Given the description of an element on the screen output the (x, y) to click on. 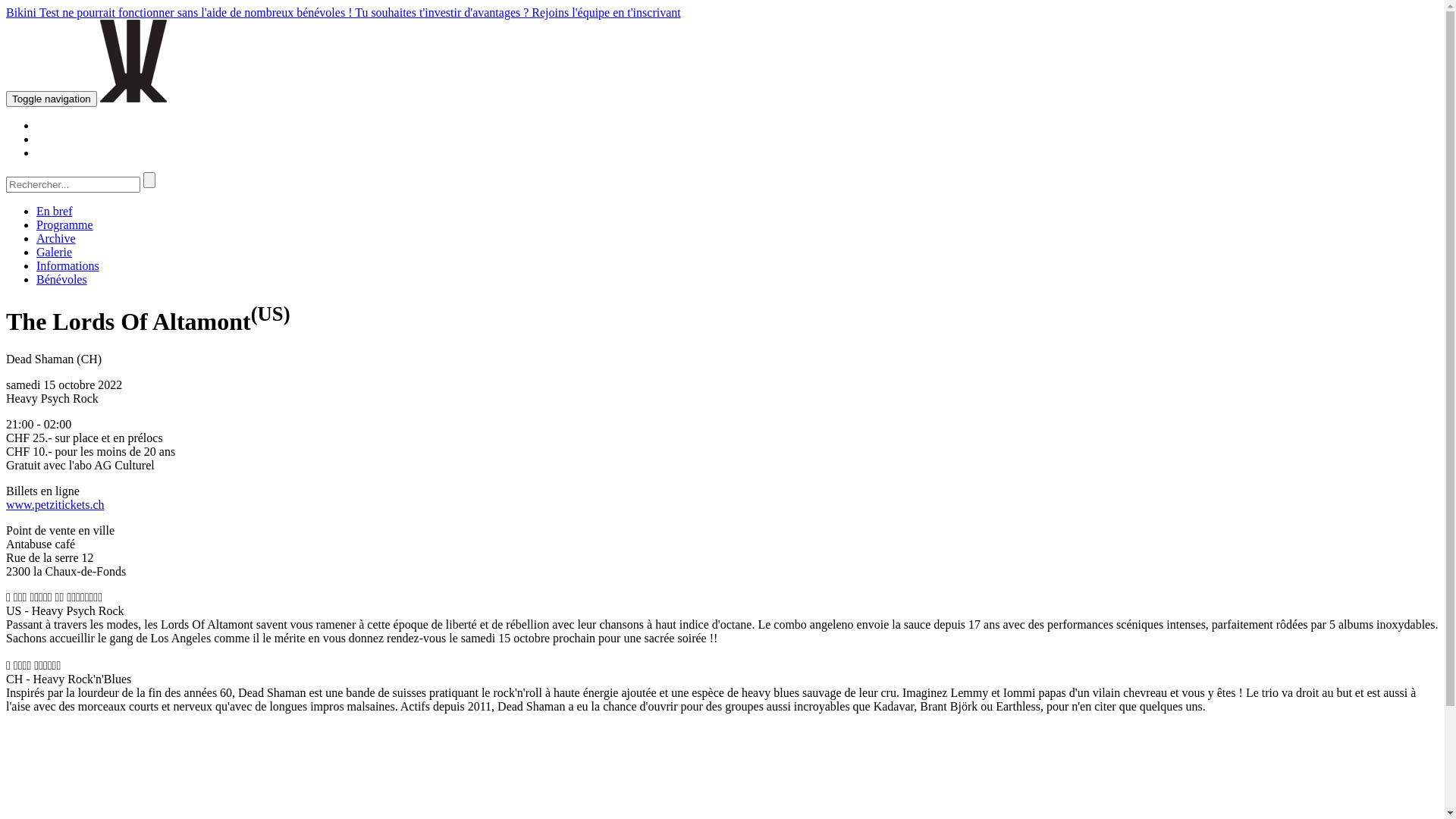
Programme Element type: text (64, 224)
Toggle navigation Element type: text (51, 98)
Galerie Element type: text (54, 251)
Informations Element type: text (67, 265)
En bref Element type: text (54, 210)
Archive Element type: text (55, 238)
www.petzitickets.ch Element type: text (55, 504)
